Given the description of an element on the screen output the (x, y) to click on. 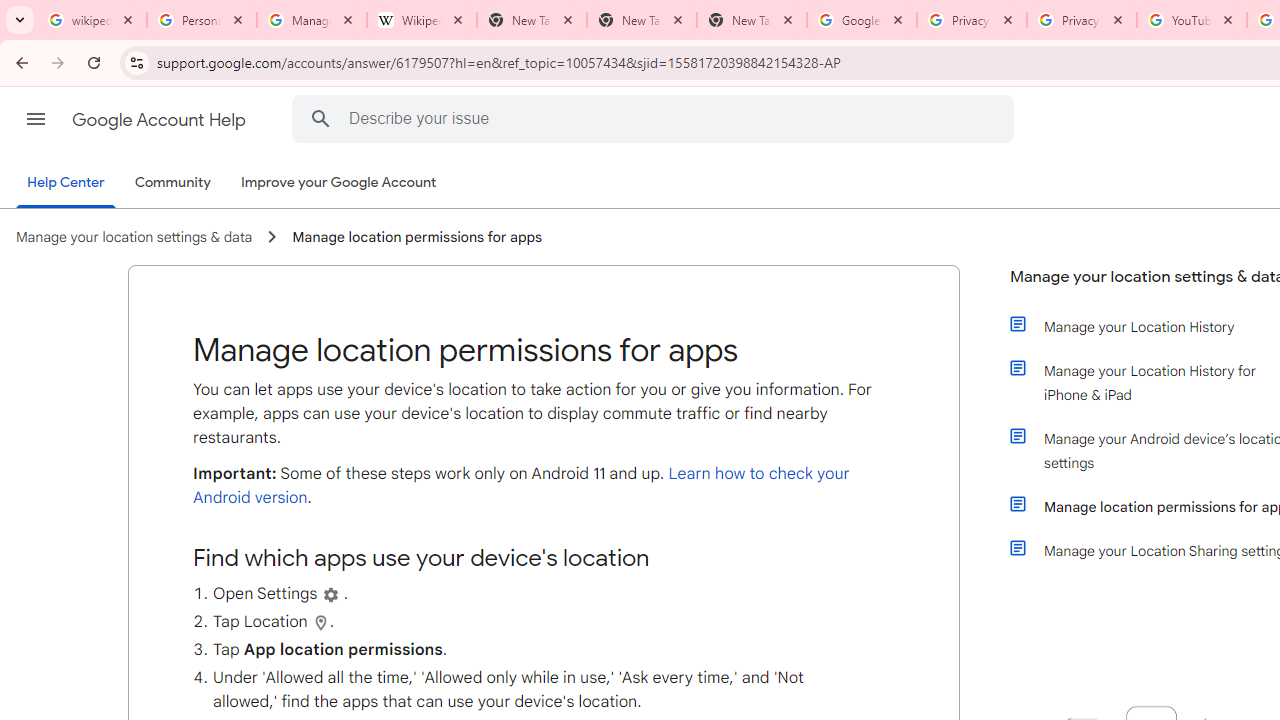
Community (171, 183)
Improve your Google Account (339, 183)
New Tab (752, 20)
Personalization & Google Search results - Google Search Help (202, 20)
Learn how to check your Android version (521, 485)
Search Help Center (320, 118)
